Given the description of an element on the screen output the (x, y) to click on. 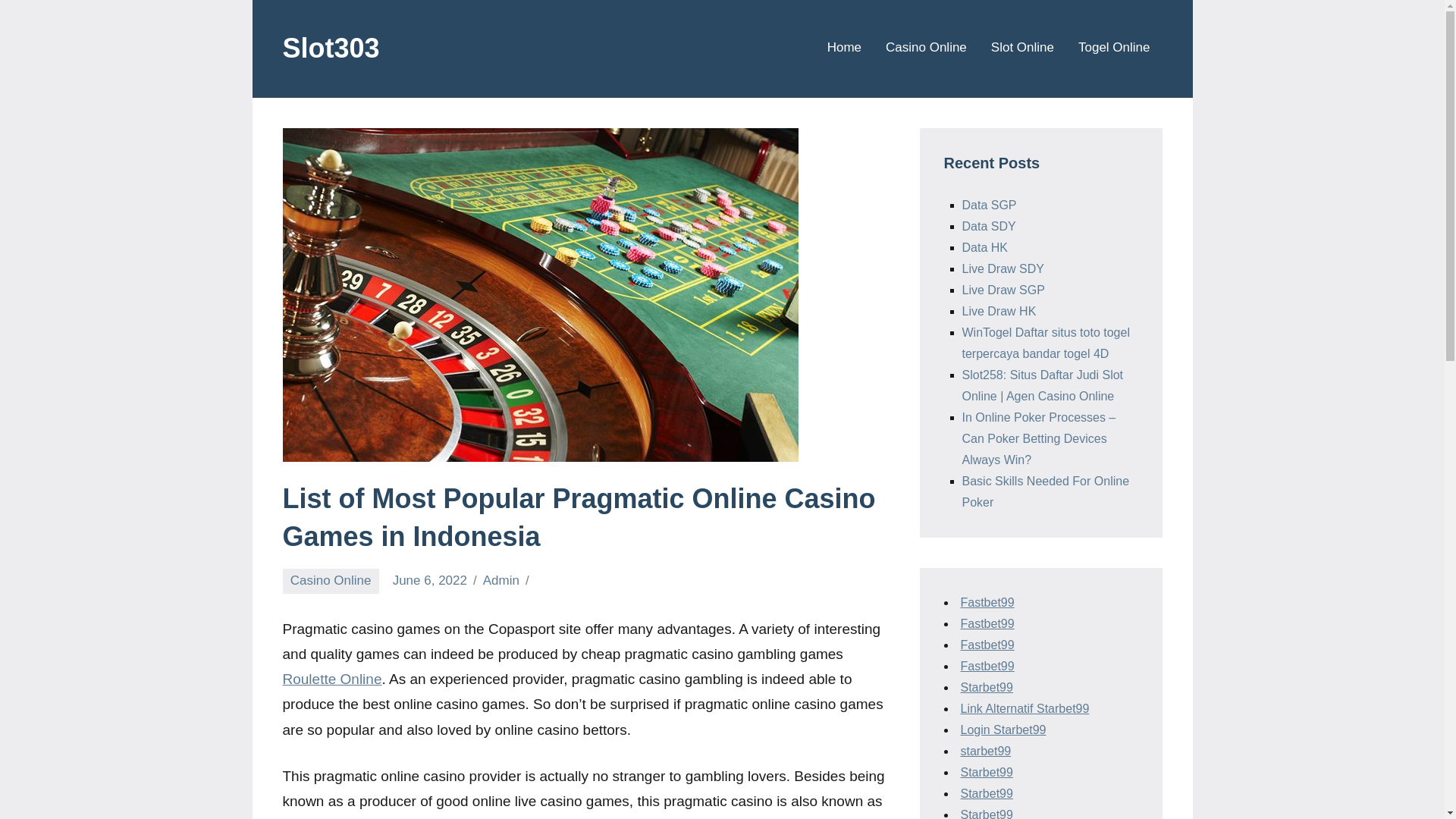
Data HK (983, 246)
Admin (501, 580)
Slot Online (1022, 48)
Starbet99 (985, 793)
Login Starbet99 (1002, 729)
Togel Online (1114, 48)
Home (844, 48)
Live Draw SDY (1001, 268)
Data SDY (987, 226)
Casino Online (925, 48)
Roulette Online (331, 678)
WinTogel Daftar situs toto togel terpercaya bandar togel 4D (1044, 342)
Basic Skills Needed For Online Poker (1044, 491)
Starbet99 (985, 771)
Starbet99 (985, 813)
